Given the description of an element on the screen output the (x, y) to click on. 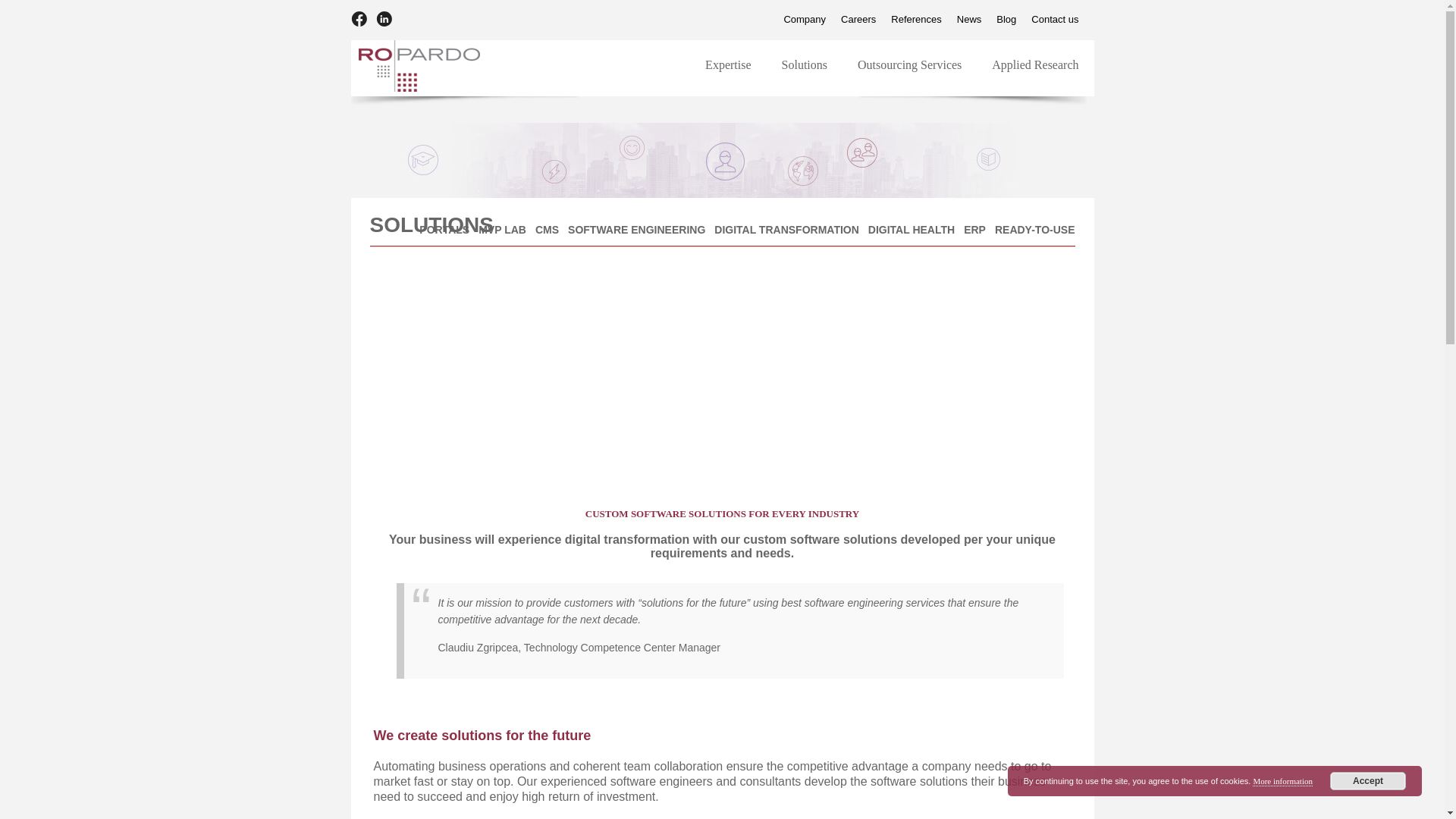
Company (931, 19)
News (804, 19)
Blog (969, 19)
References (1005, 19)
Careers (916, 19)
Contact us (891, 64)
Search (857, 19)
my logo (1054, 19)
Expertise (21, 7)
